Given the description of an element on the screen output the (x, y) to click on. 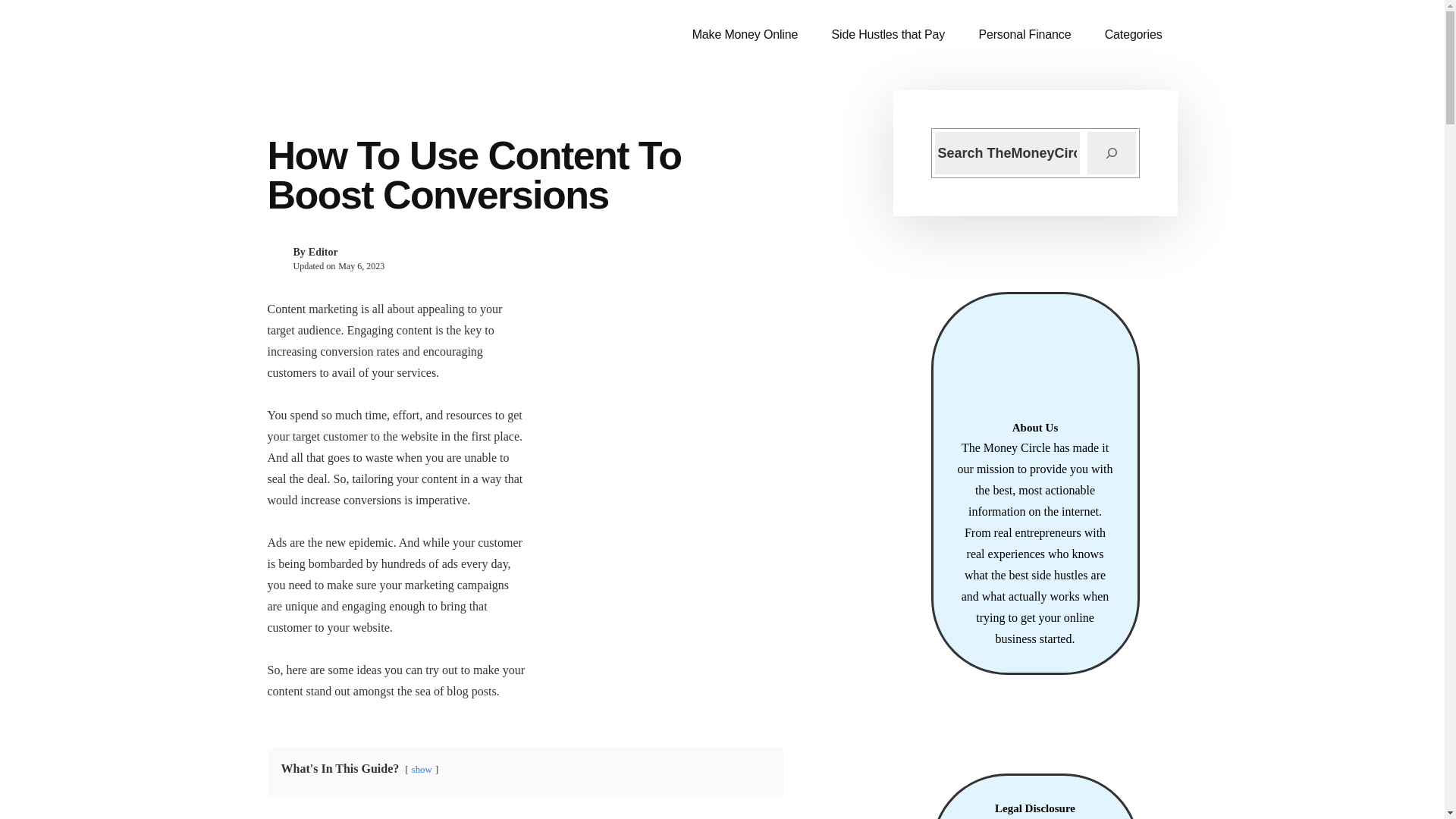
Side Hustles that Pay (888, 34)
Categories (1133, 34)
Make Money Online (745, 34)
show (422, 769)
Personal Finance (1024, 34)
